Given the description of an element on the screen output the (x, y) to click on. 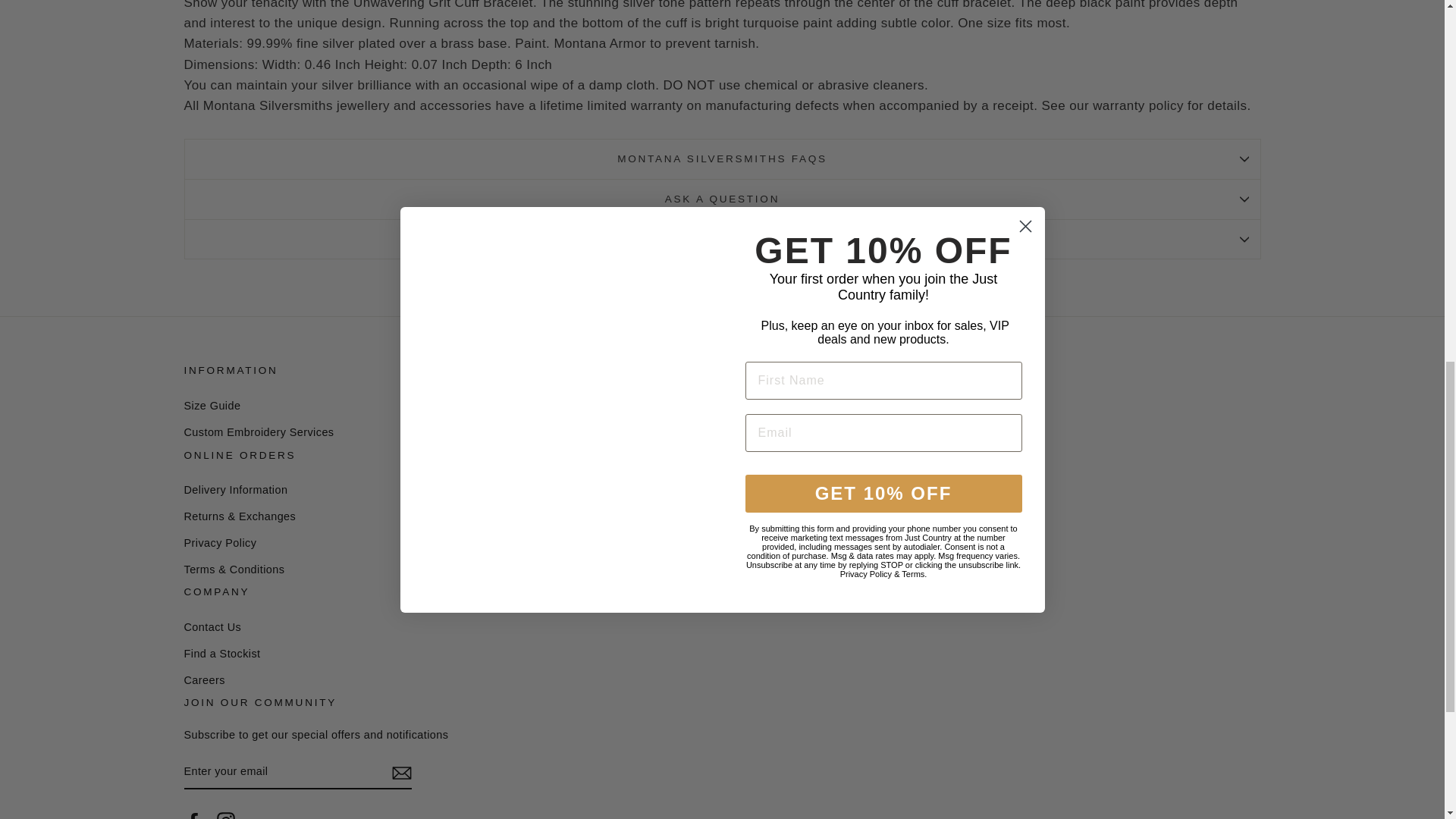
Just Country Australia Pty Ltd on Facebook (192, 815)
Just Country Australia Pty Ltd on Instagram (225, 815)
